Given the description of an element on the screen output the (x, y) to click on. 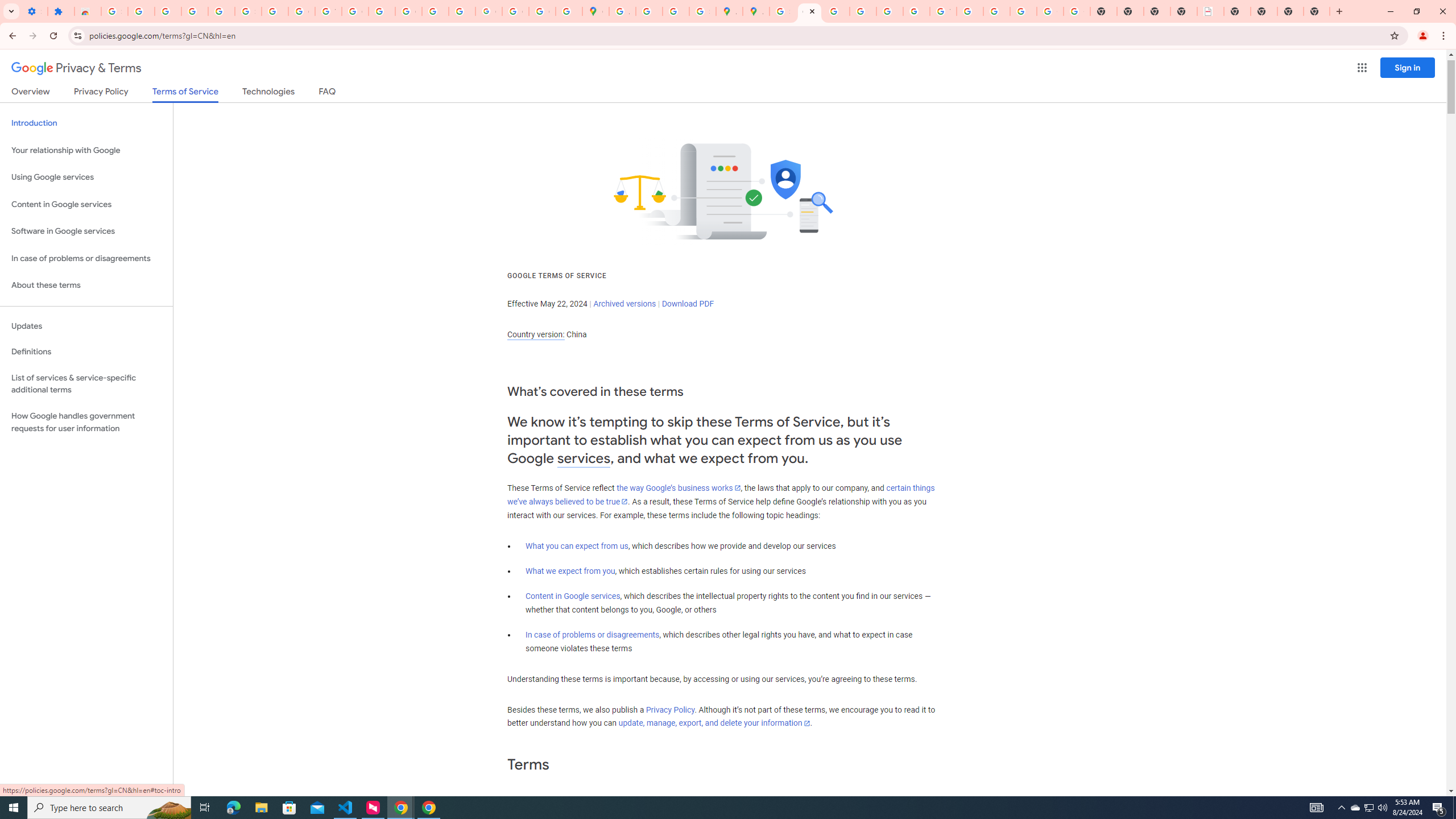
services (583, 458)
Download PDF (687, 303)
New Tab (1290, 11)
Privacy Help Center - Policies Help (862, 11)
Reviews: Helix Fruit Jump Arcade Game (87, 11)
Content in Google services (572, 596)
Sign in - Google Accounts (114, 11)
